Given the description of an element on the screen output the (x, y) to click on. 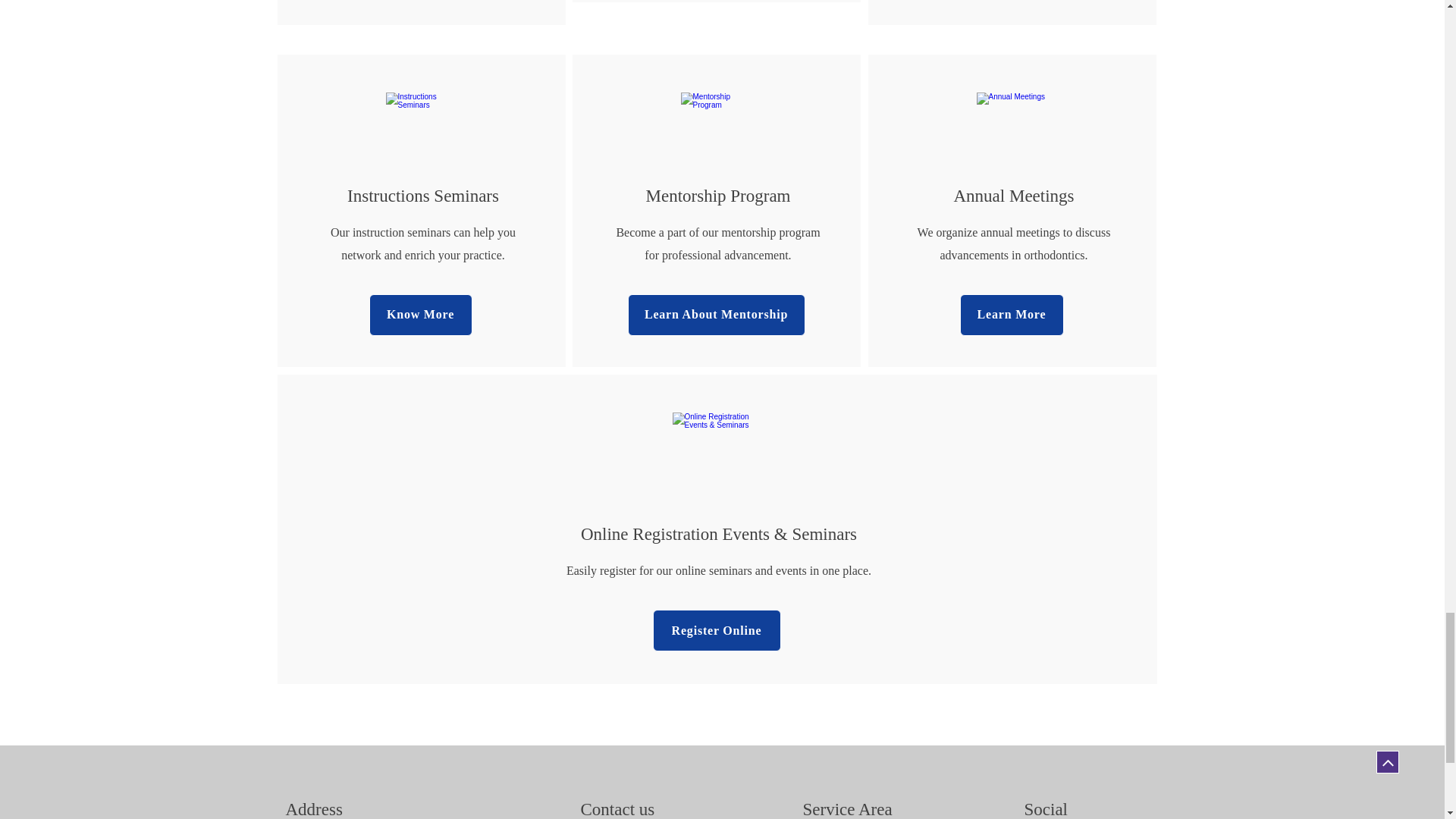
Learn About Mentorship (716, 314)
Know More (419, 314)
